Given the description of an element on the screen output the (x, y) to click on. 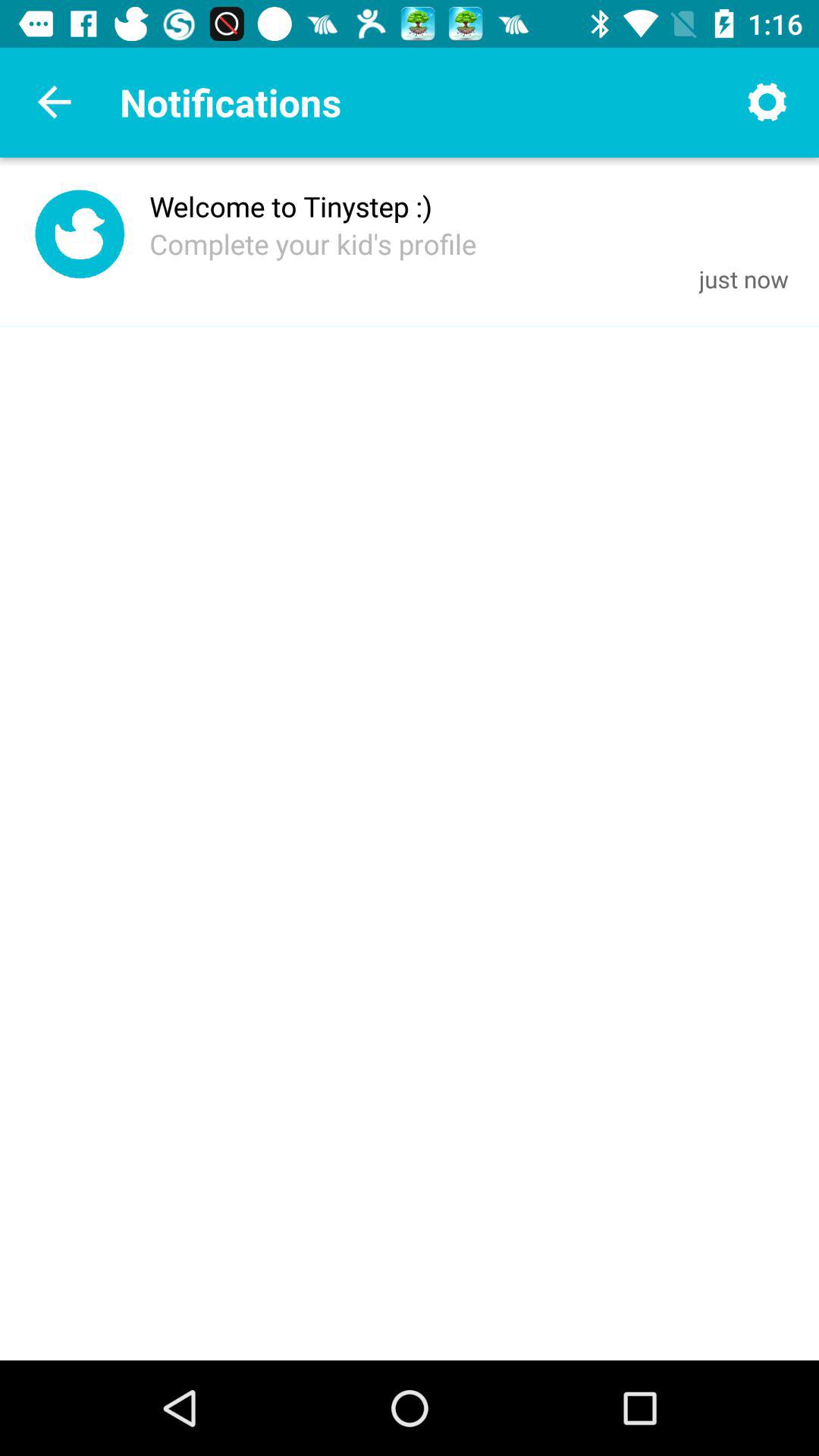
tap complete your kid (312, 243)
